Given the description of an element on the screen output the (x, y) to click on. 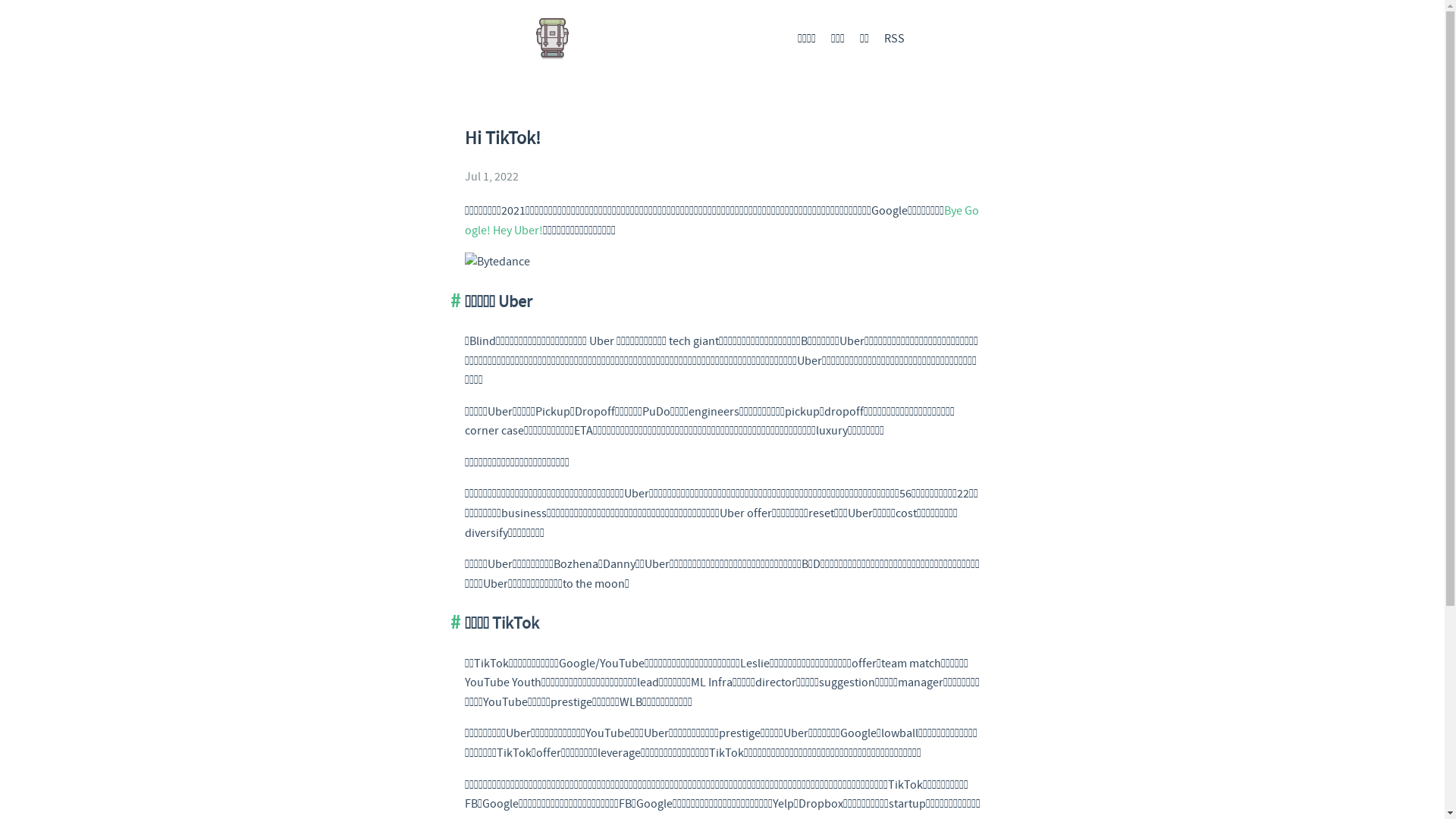
Bye Google! Hey Uber! Element type: text (721, 220)
RSS Element type: text (894, 39)
